Given the description of an element on the screen output the (x, y) to click on. 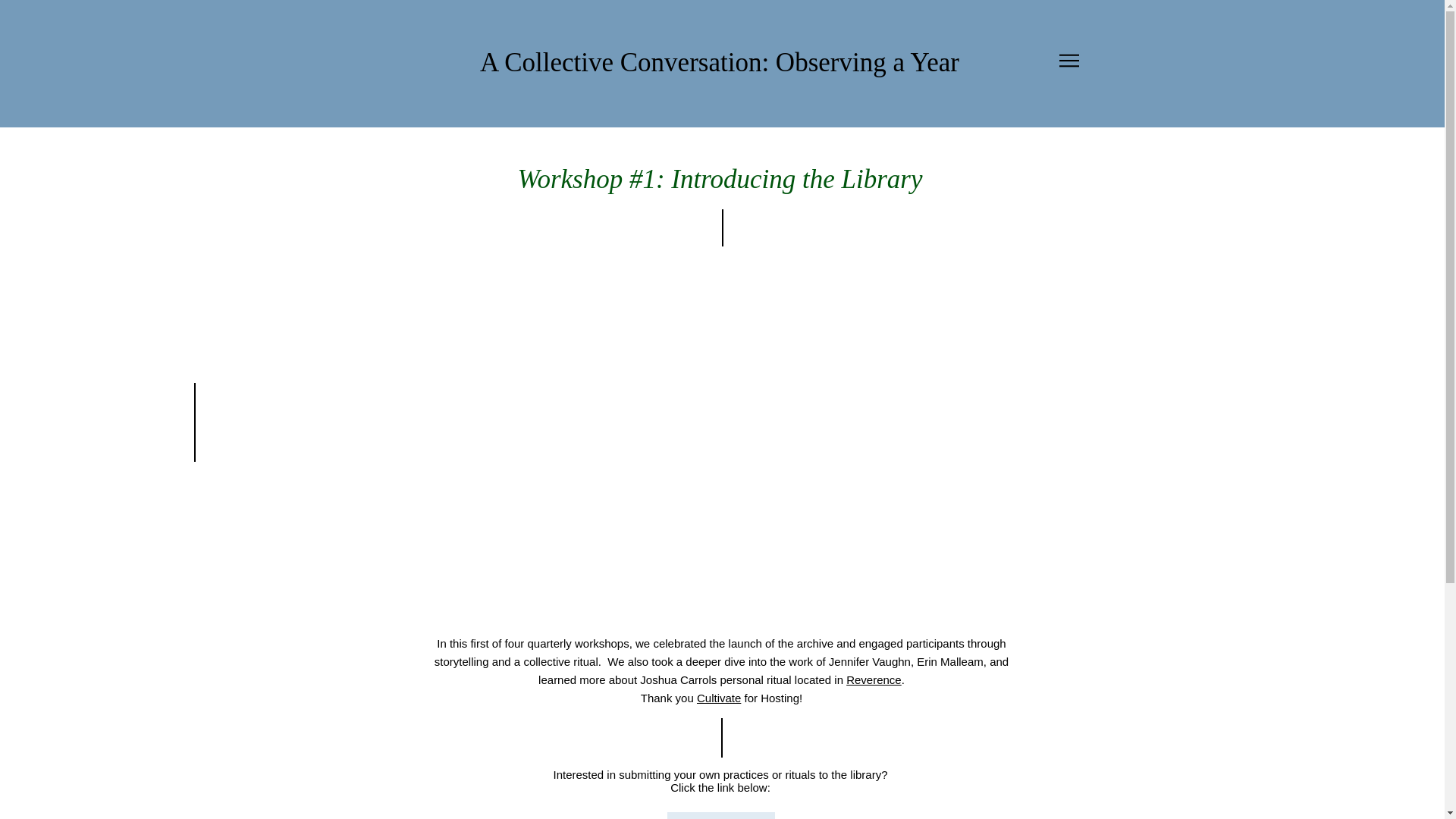
Submit (720, 815)
Reverence (873, 679)
A Collective Conversation: Observing a Year (719, 61)
Cultivate (719, 697)
